Given the description of an element on the screen output the (x, y) to click on. 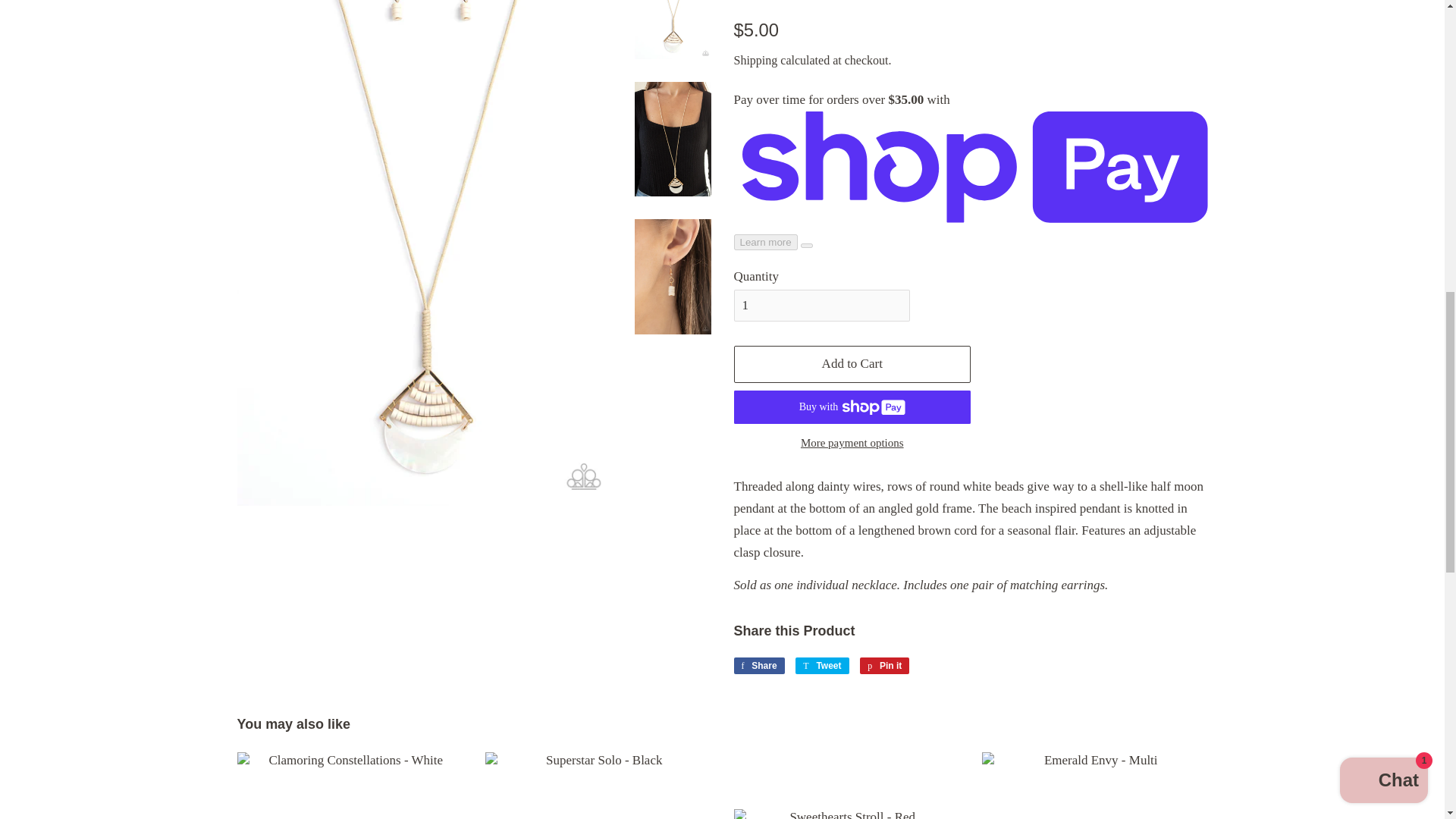
1 (821, 305)
Pin on Pinterest (884, 665)
Tweet on Twitter (821, 665)
Share on Facebook (758, 665)
